Given the description of an element on the screen output the (x, y) to click on. 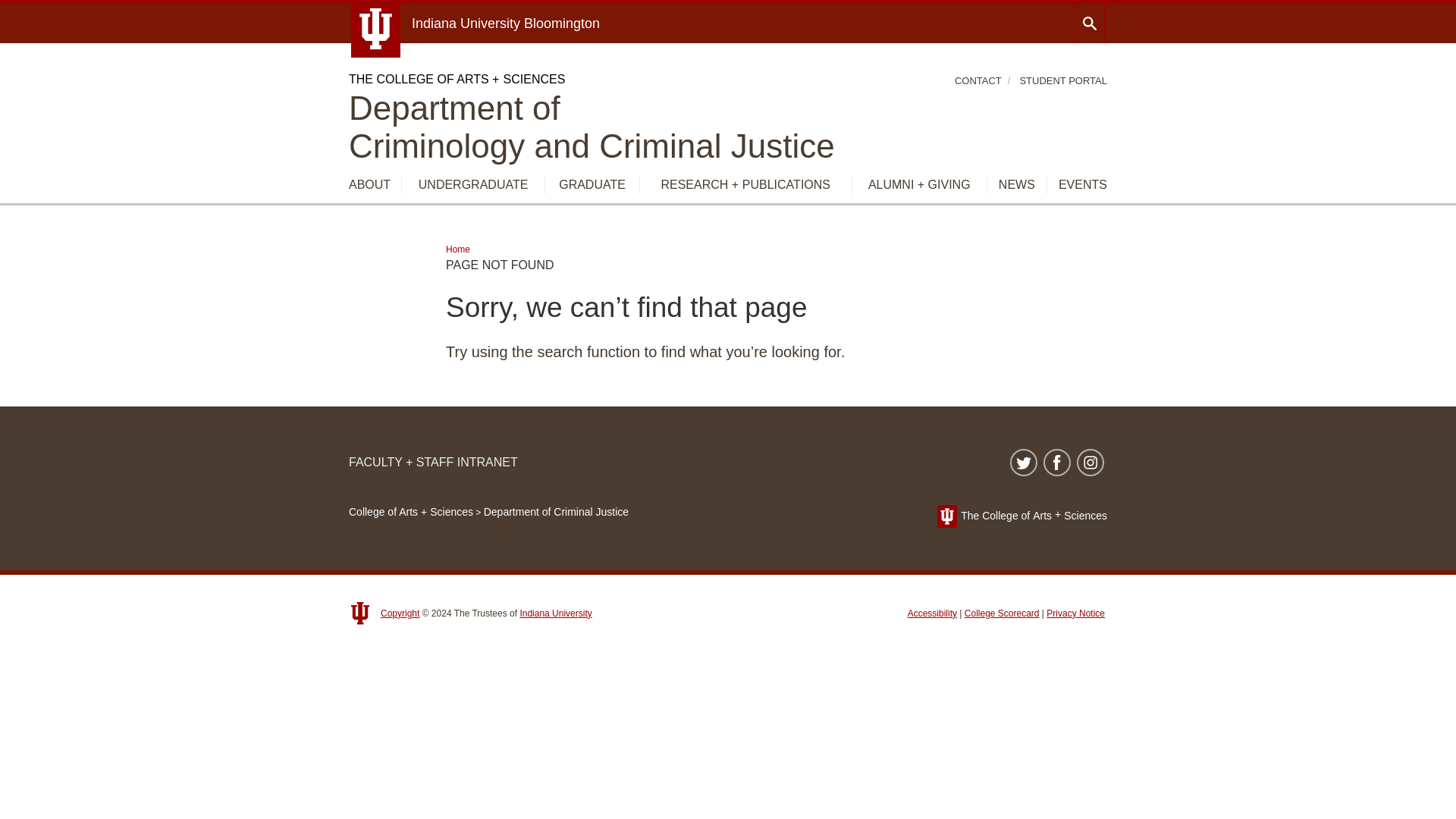
GRADUATE (592, 184)
Indiana University Bloomington (505, 23)
ABOUT (591, 127)
UNDERGRADUATE (369, 184)
Indiana University Bloomington (473, 184)
